Given the description of an element on the screen output the (x, y) to click on. 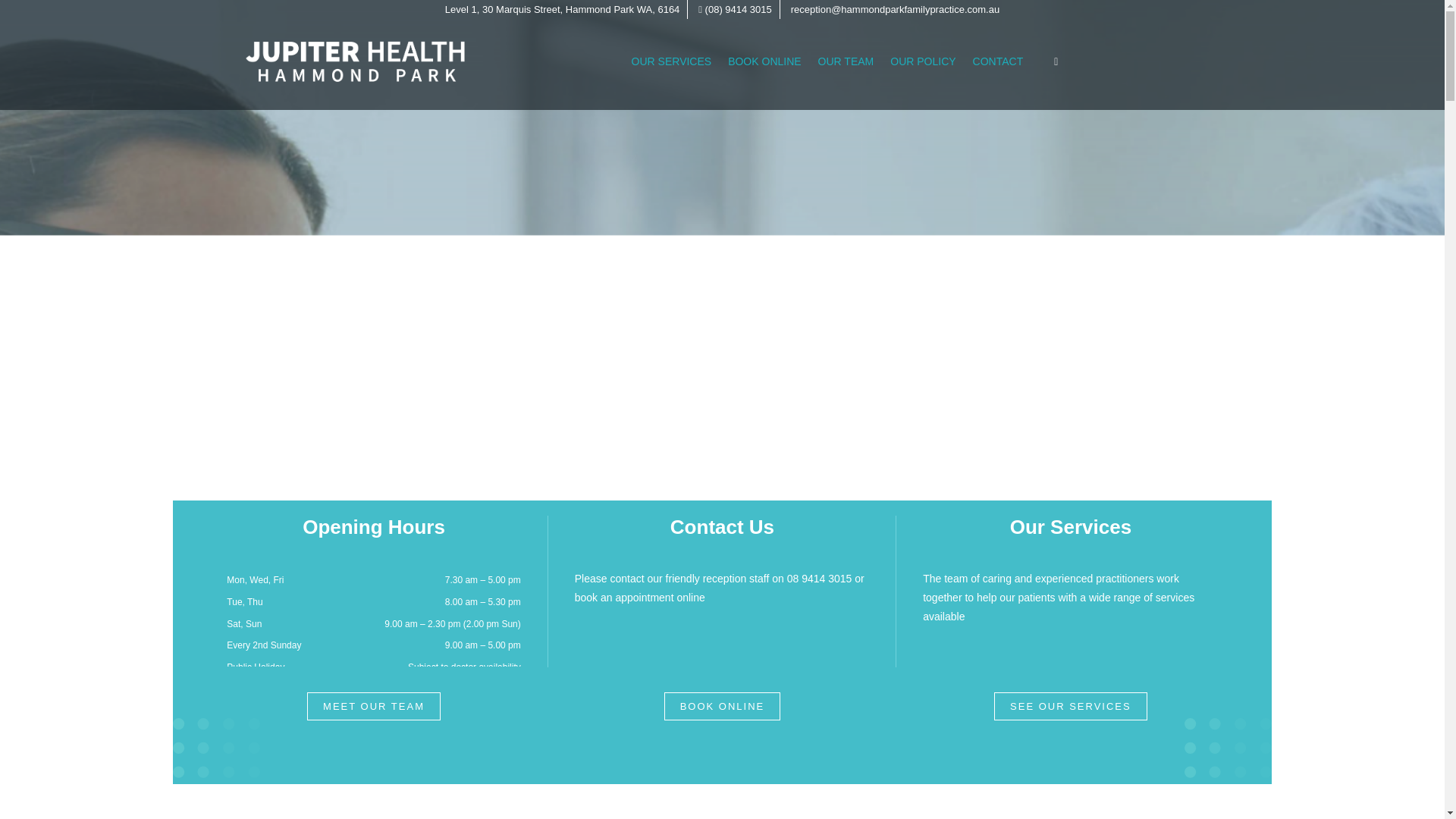
BOOK ONLINE (721, 706)
BOOK ONLINE (764, 61)
CONTACT (997, 61)
MEET OUR TEAM (374, 706)
OUR SERVICES (671, 61)
MEET OUR TEAM (374, 706)
OUR POLICY (922, 61)
SEE OUR SERVICES (1070, 706)
OUR TEAM (845, 61)
OUR TEAM (845, 61)
